Given the description of an element on the screen output the (x, y) to click on. 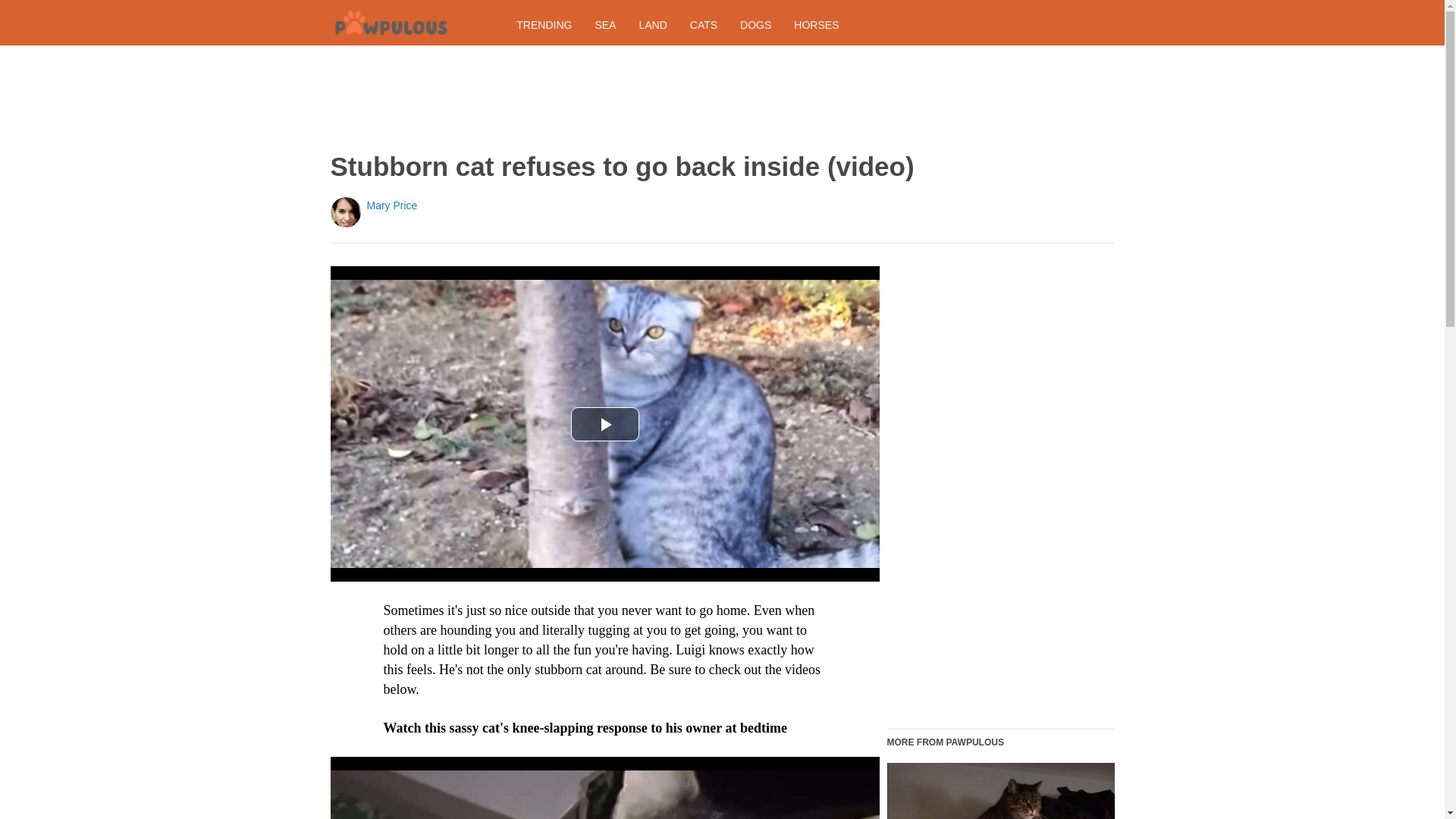
Play Video (604, 423)
LAND (652, 24)
HORSES (815, 24)
TRENDING (544, 24)
Play Video (604, 423)
DOGS (755, 24)
CATS (703, 24)
Advertisement (719, 98)
SEA (604, 24)
